Given the description of an element on the screen output the (x, y) to click on. 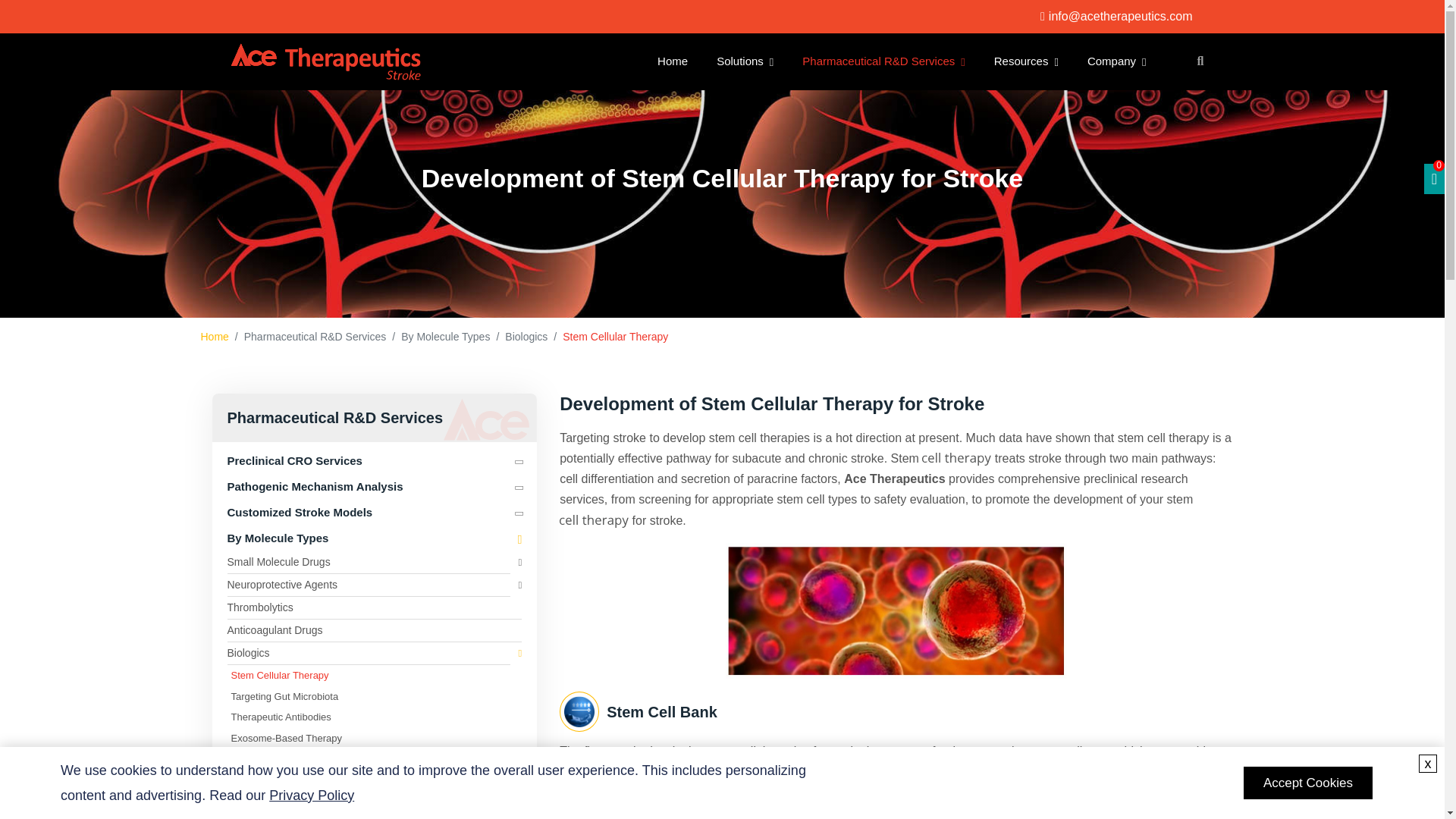
Resources (1026, 61)
Home (672, 61)
Solutions (744, 61)
